Given the description of an element on the screen output the (x, y) to click on. 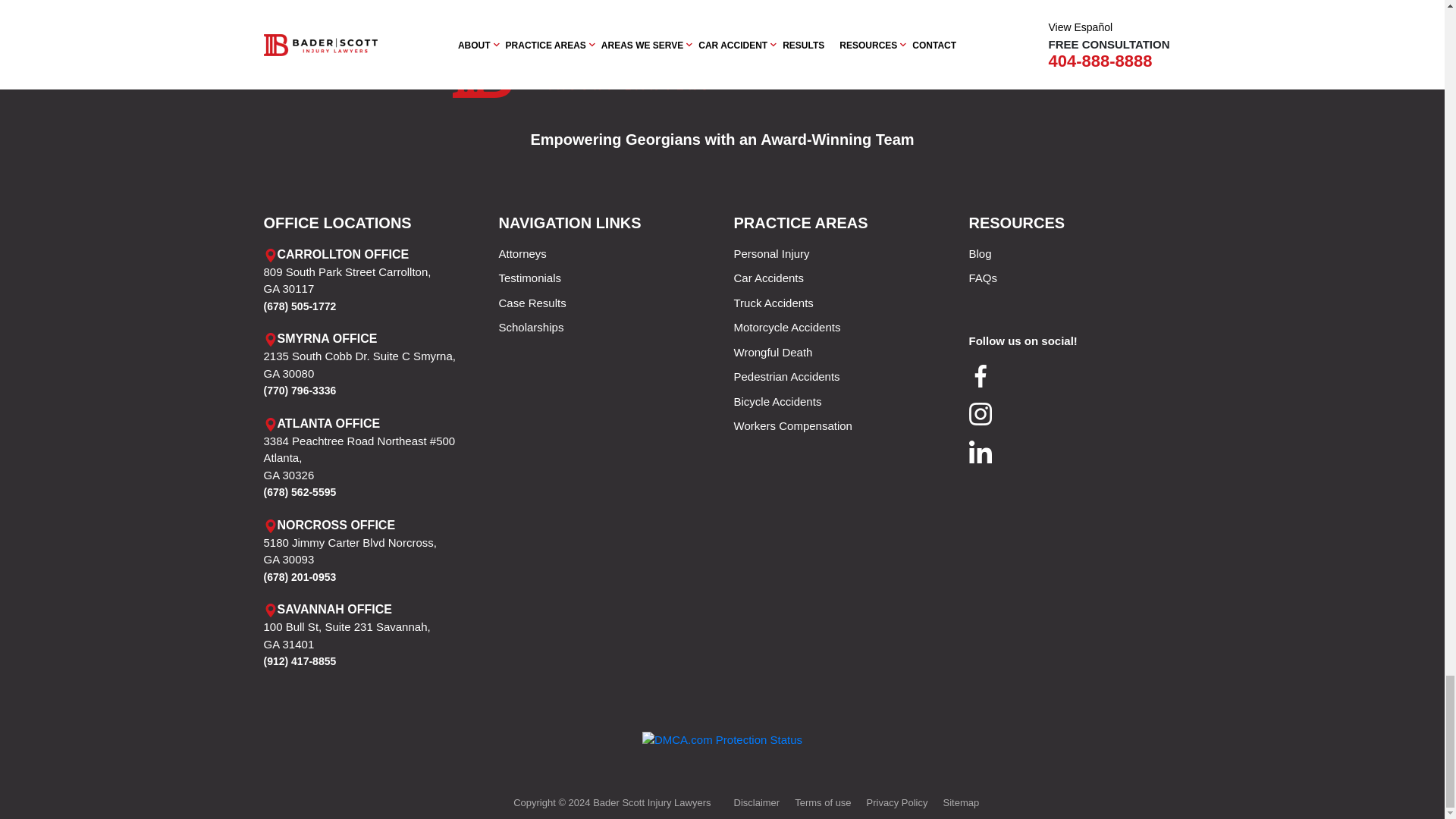
DMCA.com Protection Status (722, 738)
